Given the description of an element on the screen output the (x, y) to click on. 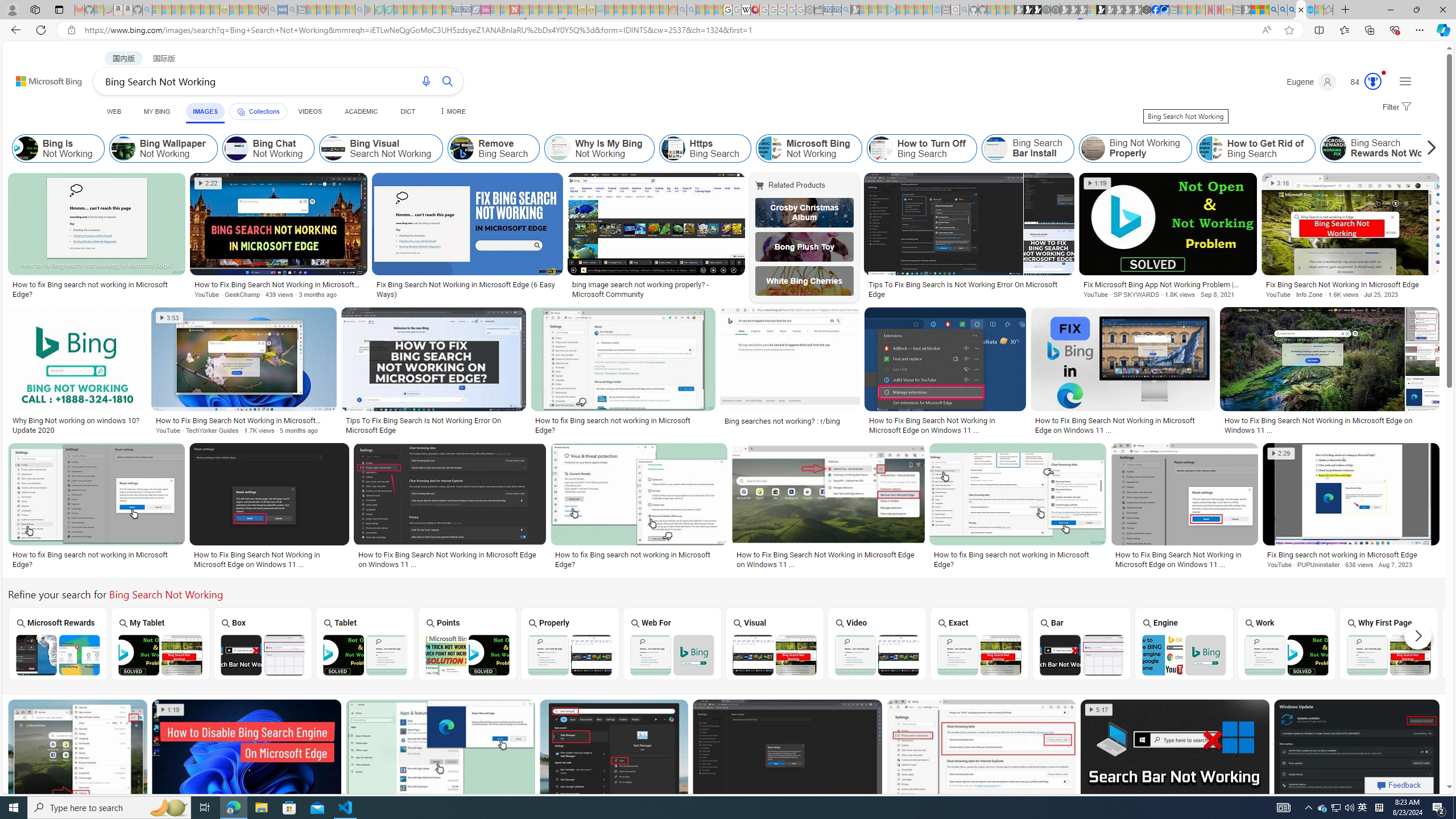
AirNow.gov (1163, 9)
Why First Page of Bing Search Not Working Why First Page (1388, 643)
My Tablet (160, 643)
Bing Video Search Not Working Video (877, 643)
Microsoft Rewards Bing Search Not Working Microsoft Rewards (57, 643)
AutomationID: serp_medal_svg (1372, 81)
White Bing Cherries (804, 280)
How to Get Rid of Bing Search (1256, 148)
Bing Wallpaper Not Working (162, 148)
